Given the description of an element on the screen output the (x, y) to click on. 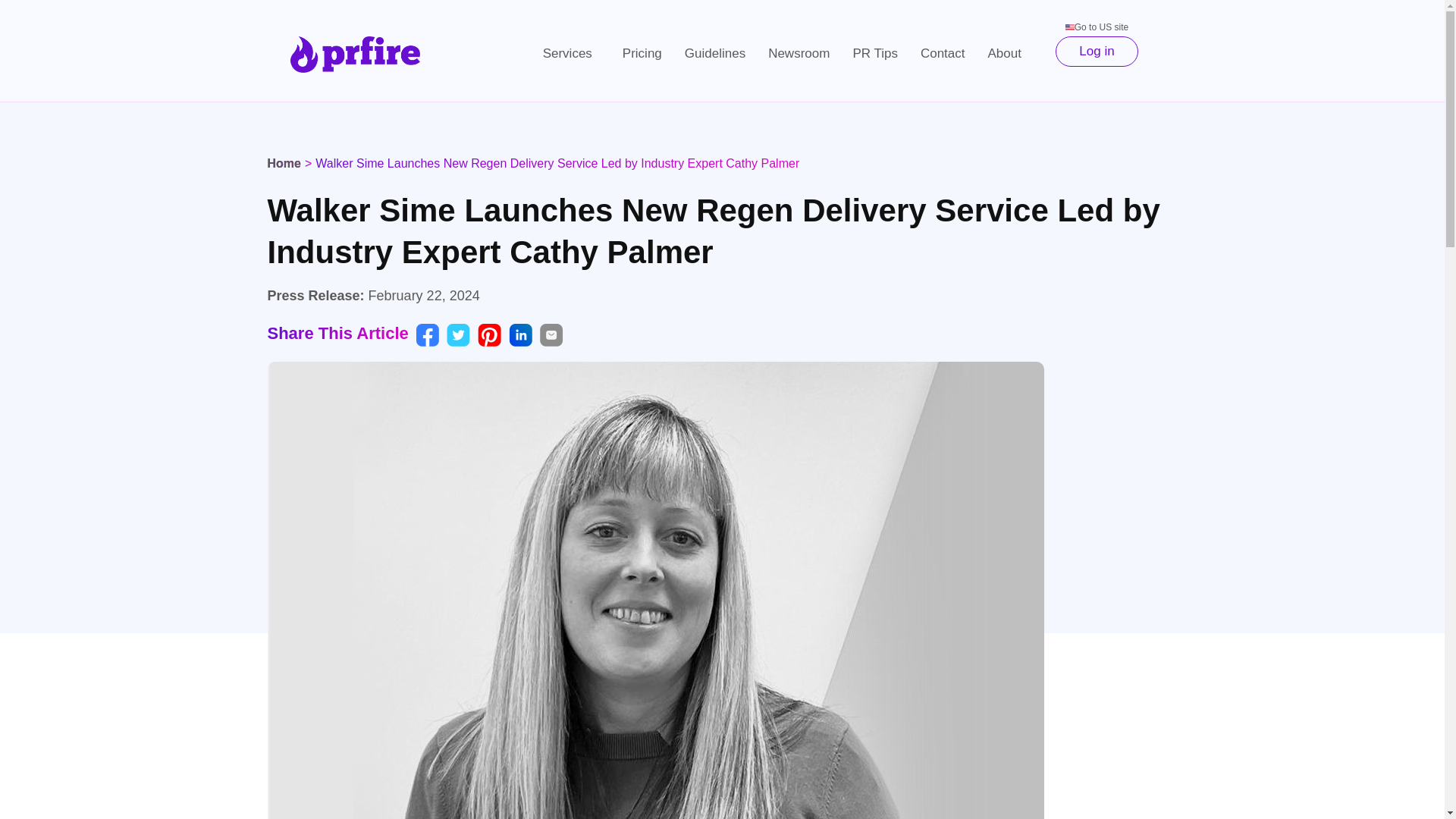
Pricing (641, 53)
Contact (942, 53)
Guidelines (714, 53)
Go to US site (1096, 27)
About (1008, 53)
Newsroom (799, 53)
Services (571, 53)
Log in (1096, 51)
PR Tips (874, 53)
